Given the description of an element on the screen output the (x, y) to click on. 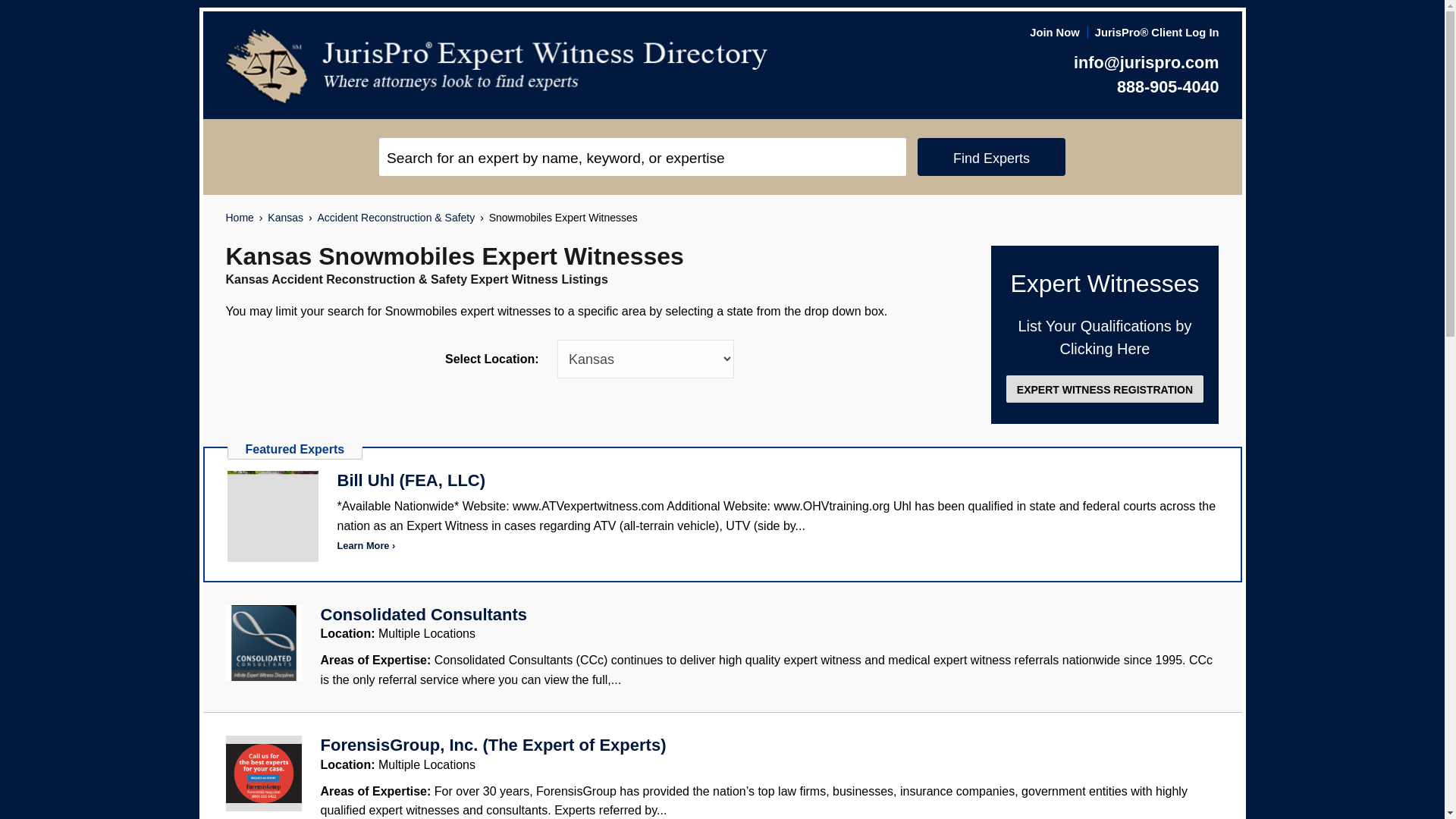
Find Experts (991, 157)
Home (239, 217)
Consolidated Consultants (423, 614)
EXPERT WITNESS REGISTRATION (1105, 388)
JurisPro Expert Witness Directory (497, 66)
Join Now (1053, 32)
Search (641, 157)
Kansas (284, 217)
888-905-4040 (1167, 86)
Consolidated Consultants (423, 614)
